Given the description of an element on the screen output the (x, y) to click on. 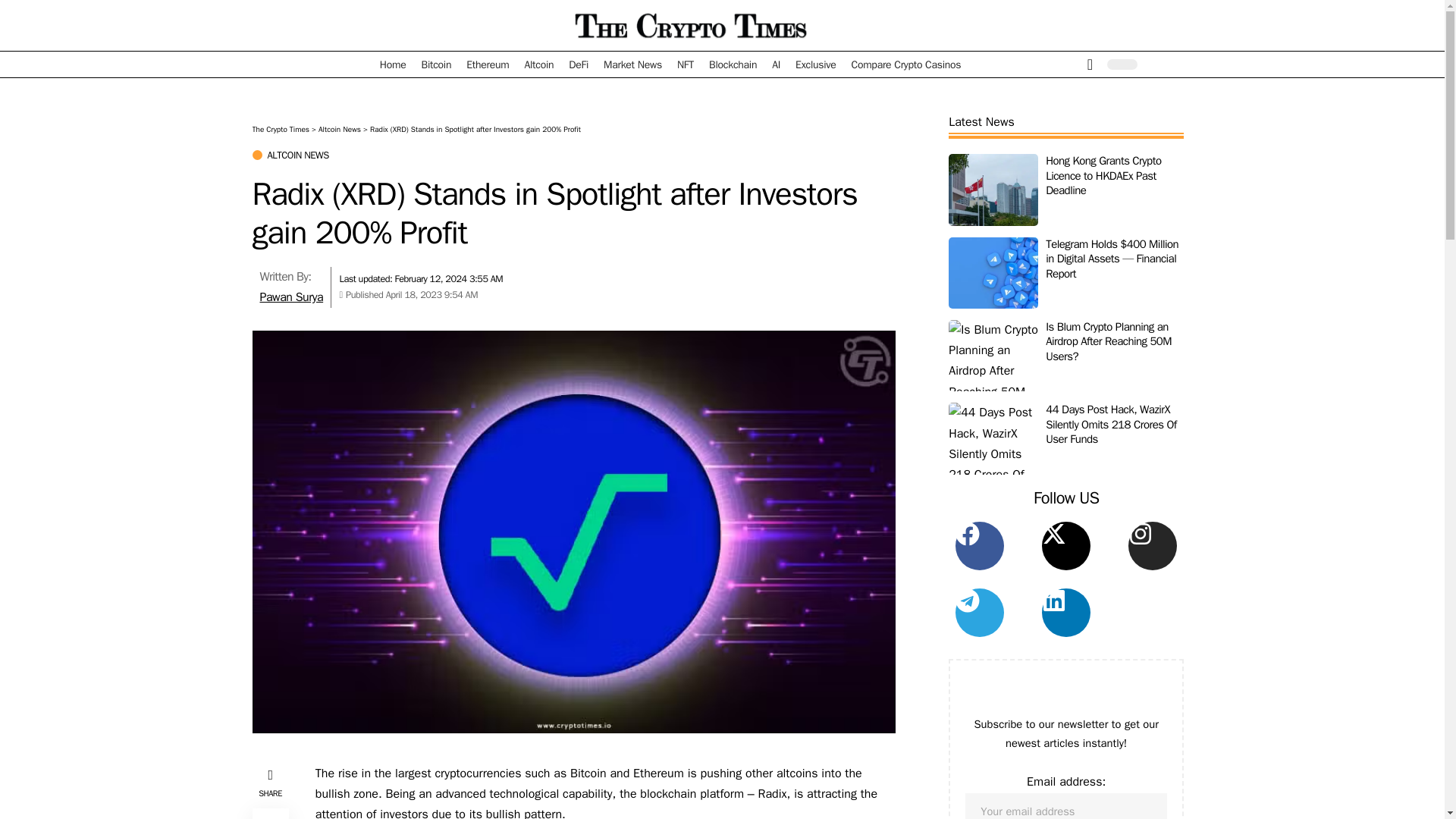
Bitcoin (436, 64)
Market News (632, 64)
AI (775, 64)
Ethereum (487, 64)
Go to the Altcoin News Category archives. (339, 129)
NFT (685, 64)
Hong Kong Grants Crypto Licence to HKDAEx Past Deadline (993, 189)
Exclusive (815, 64)
Compare Crypto Casinos (906, 64)
DeFi (577, 64)
